Given the description of an element on the screen output the (x, y) to click on. 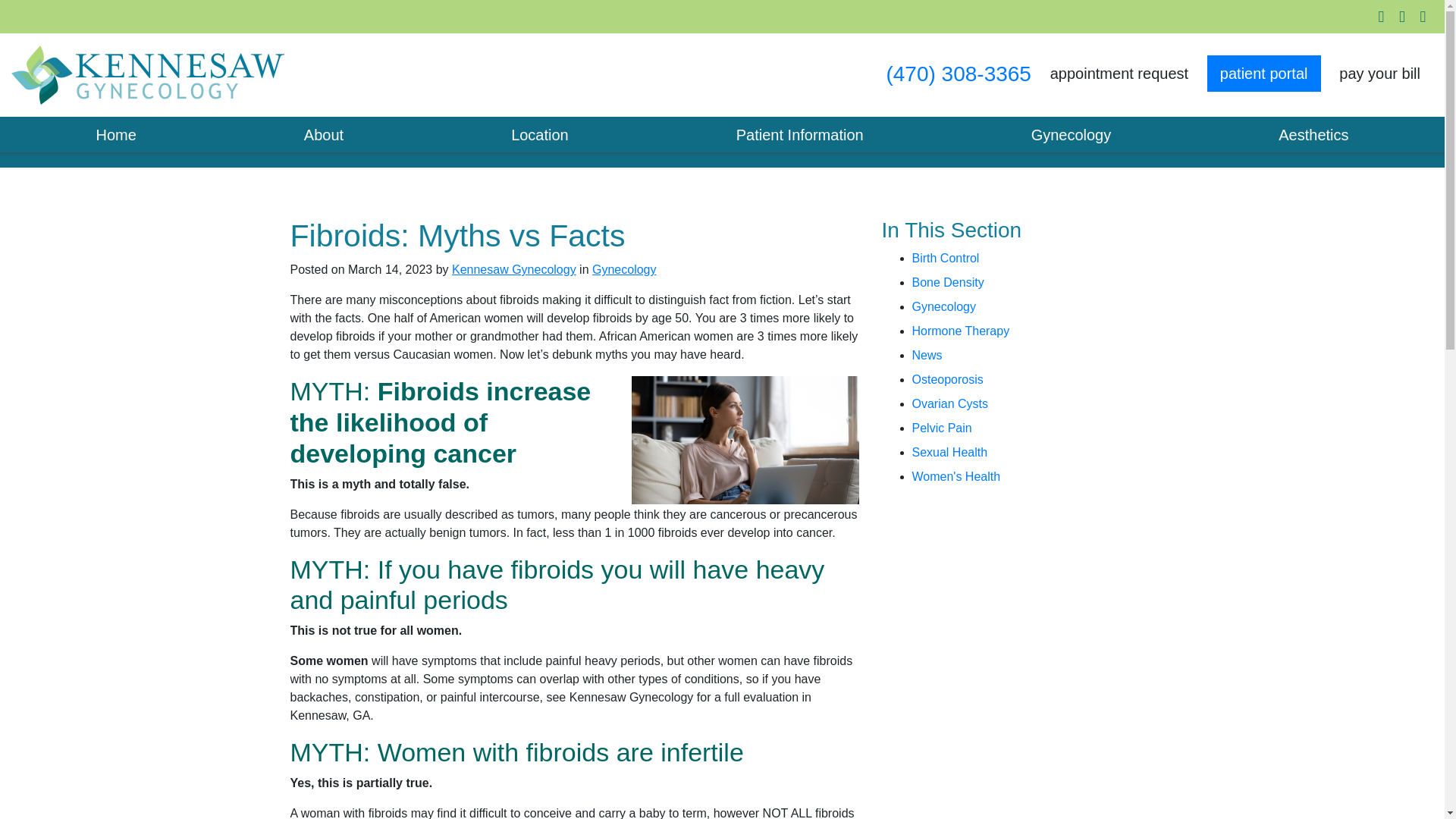
Facebook (1381, 15)
Home (115, 134)
patient portal (1263, 72)
pay your bill (1379, 72)
YouTube (1422, 15)
appointment request (1118, 72)
Patient Information (799, 134)
About (322, 134)
Gynecology (1071, 134)
Aesthetics (1313, 134)
Location (540, 134)
Instagram (1401, 15)
